Given the description of an element on the screen output the (x, y) to click on. 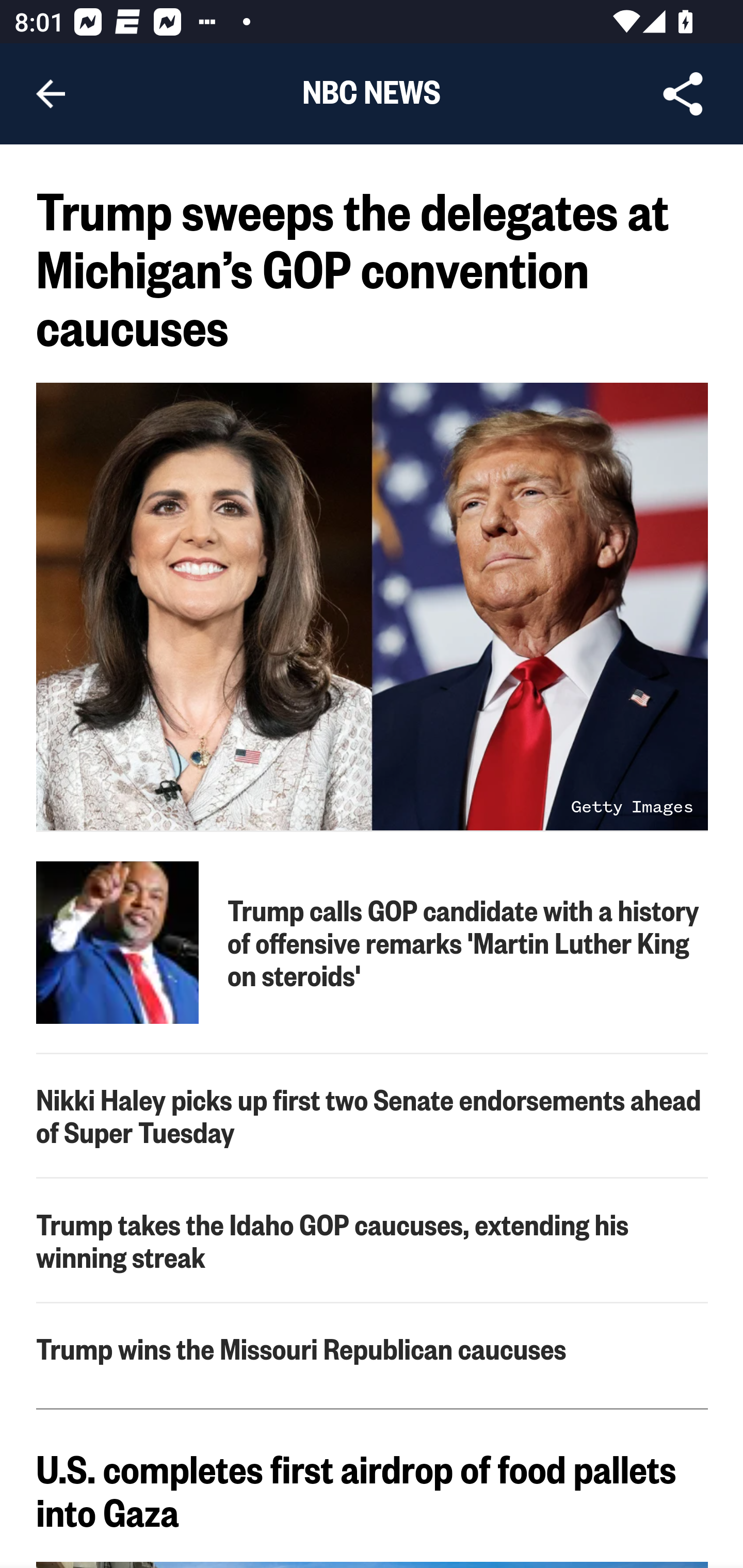
Navigate up (50, 93)
Share Article, button (683, 94)
Trump wins the Missouri Republican caucuses (372, 1348)
